Given the description of an element on the screen output the (x, y) to click on. 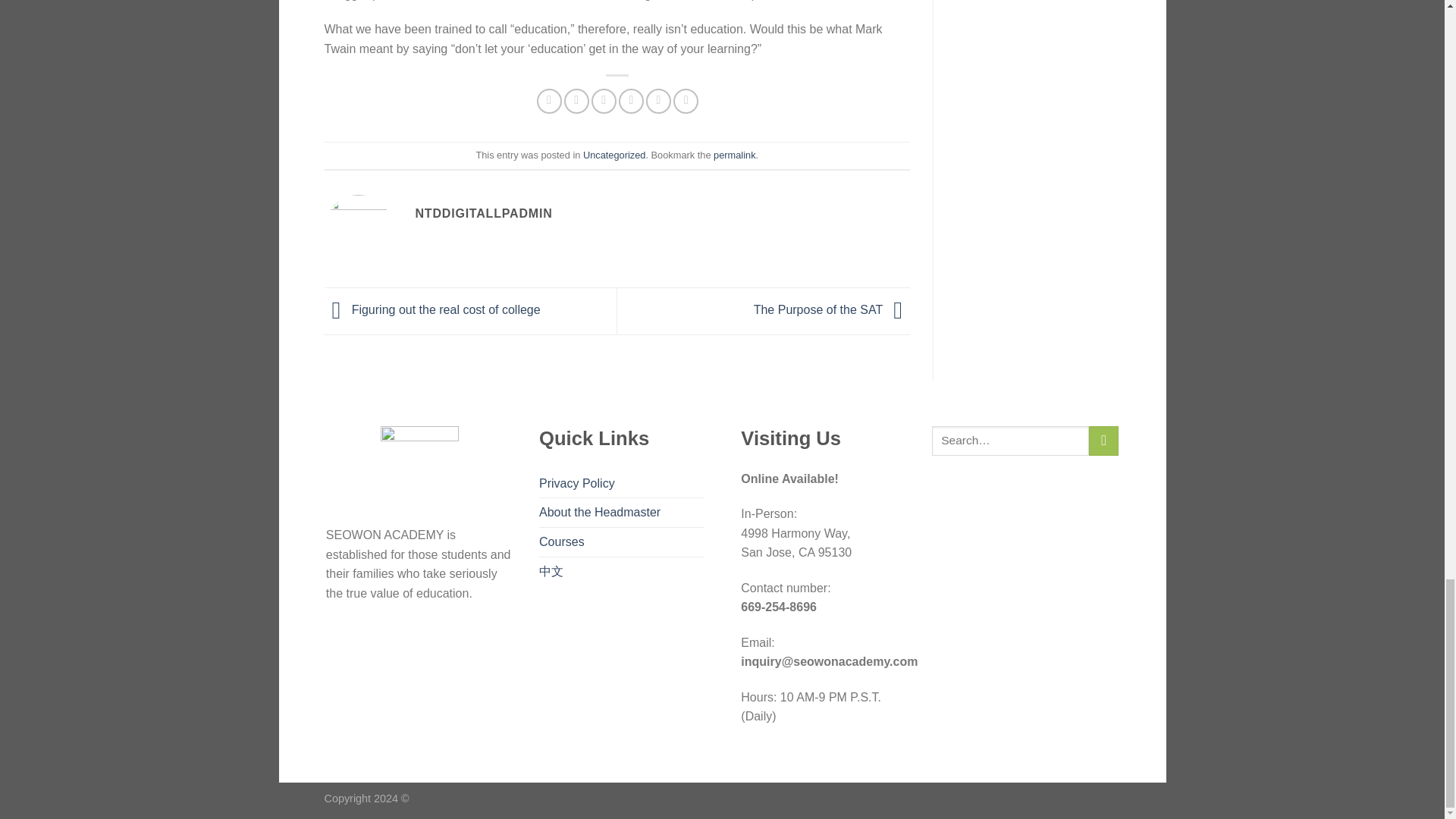
About the Headmaster (599, 512)
Figuring out the real cost of college (432, 309)
Uncategorized (614, 154)
permalink (734, 154)
Share on LinkedIn (685, 100)
Privacy Policy (576, 483)
Courses (561, 541)
Email to a Friend (603, 100)
Share on Facebook (549, 100)
Pin on Pinterest (630, 100)
Share on Twitter (576, 100)
